Given the description of an element on the screen output the (x, y) to click on. 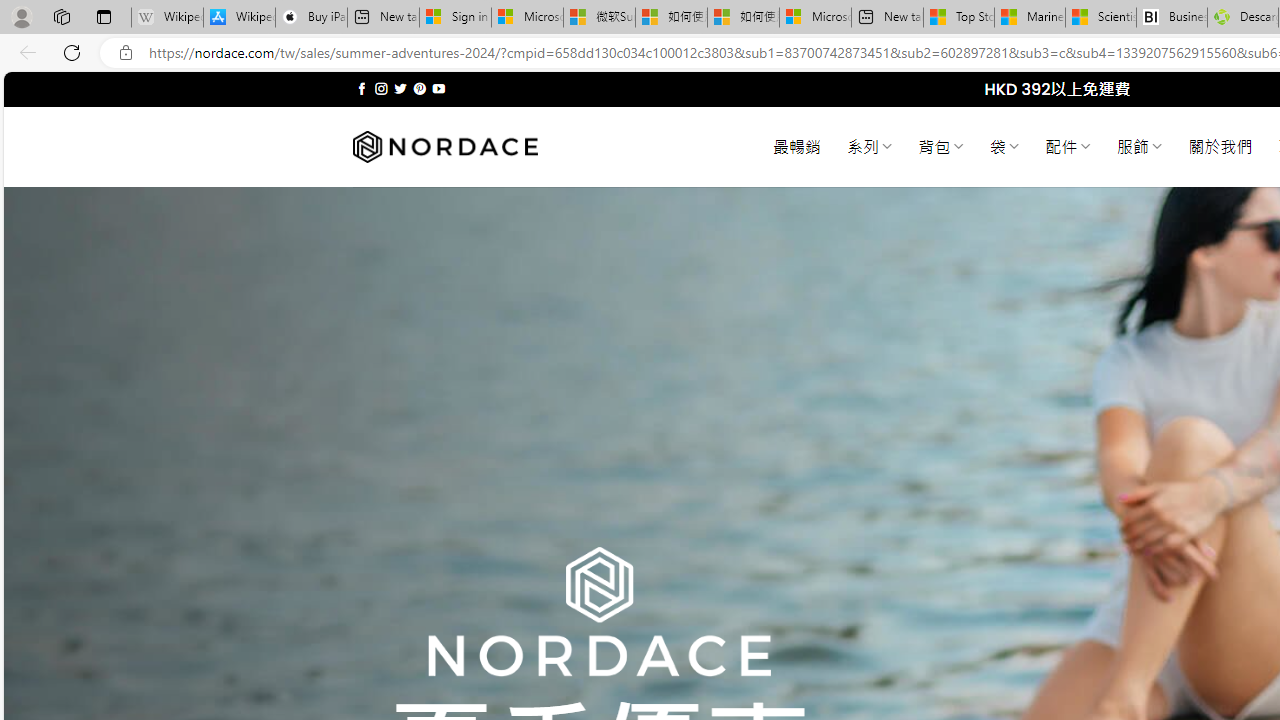
Follow on YouTube (438, 88)
Follow on Facebook (361, 88)
